Given the description of an element on the screen output the (x, y) to click on. 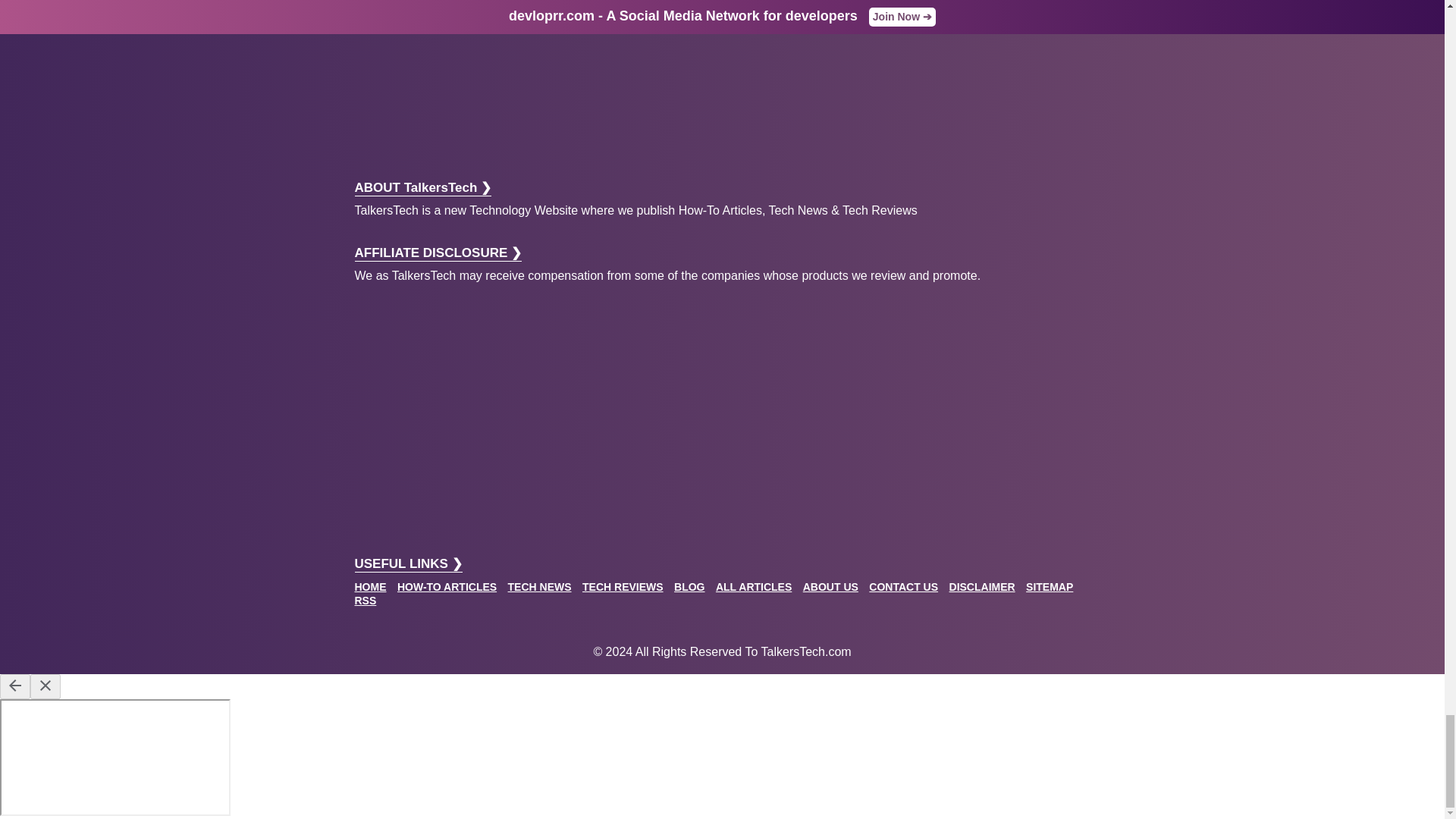
CONTACT US (903, 586)
SITEMAP (1049, 586)
HOME (371, 586)
BLOG (689, 586)
TECH REVIEWS (622, 586)
TECH NEWS (540, 586)
ALL ARTICLES (754, 586)
DISCLAIMER (981, 586)
ABOUT US (831, 586)
HOW-TO ARTICLES (446, 586)
